Given the description of an element on the screen output the (x, y) to click on. 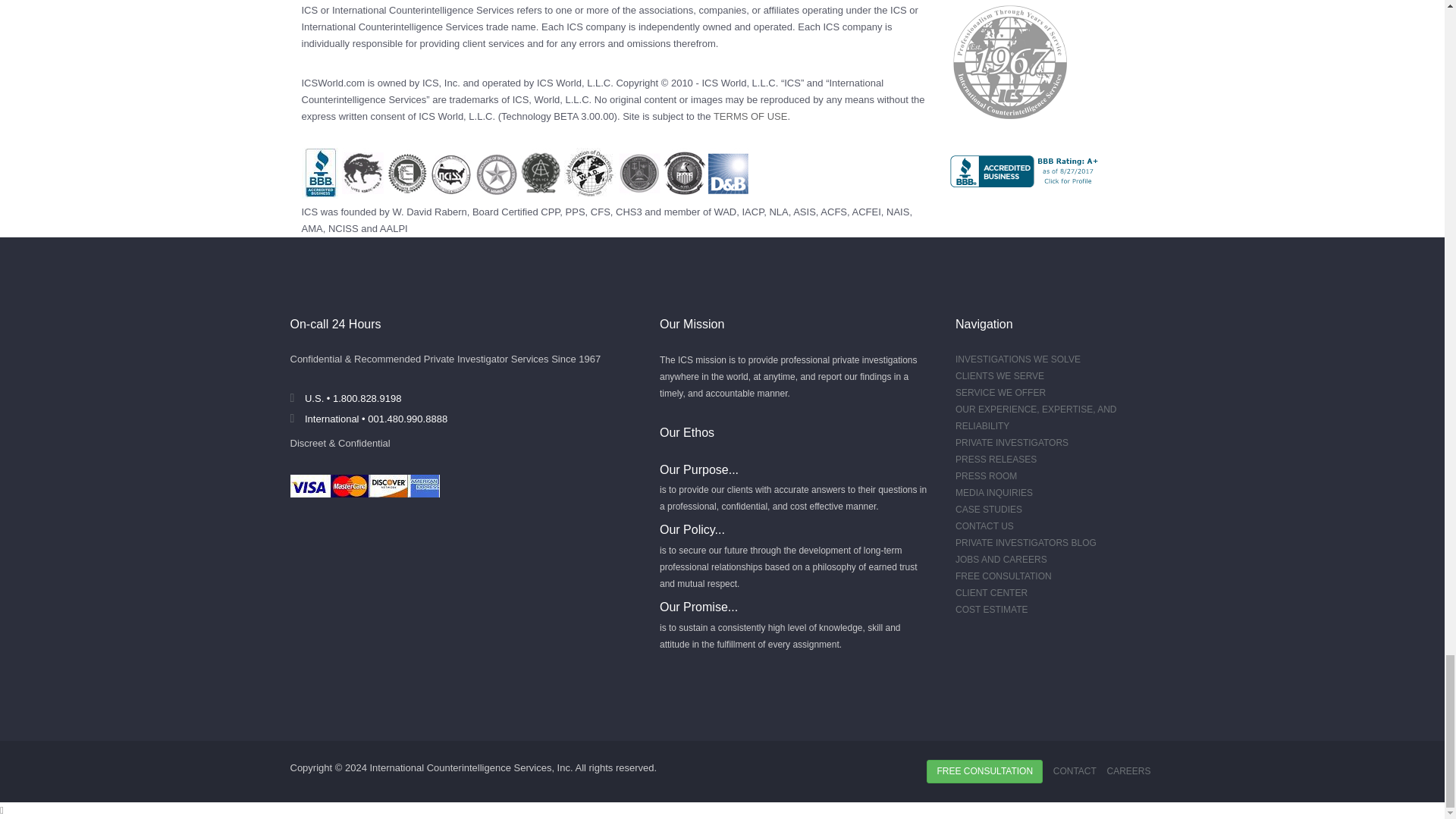
Association of Certified Fraud Specialists (834, 211)
National Council of Investigation and Security Services (343, 228)
Certified Homeland Security Specialist Level Three (628, 211)
Certified Protection Professional (549, 211)
Personal Protection Specialist (575, 211)
Certified Fraud Specialist (600, 211)
American Management Association (312, 228)
National Association of Investigative Specialists (897, 211)
Arizona Association of Licensed Private Investigators (393, 228)
American College of Forensic Examiners Institute (865, 211)
World Association of Detectives (724, 211)
Nine Lives Association (777, 211)
International Association of Cheifs of Police (751, 211)
American Society for Industrial Security (804, 211)
